Given the description of an element on the screen output the (x, y) to click on. 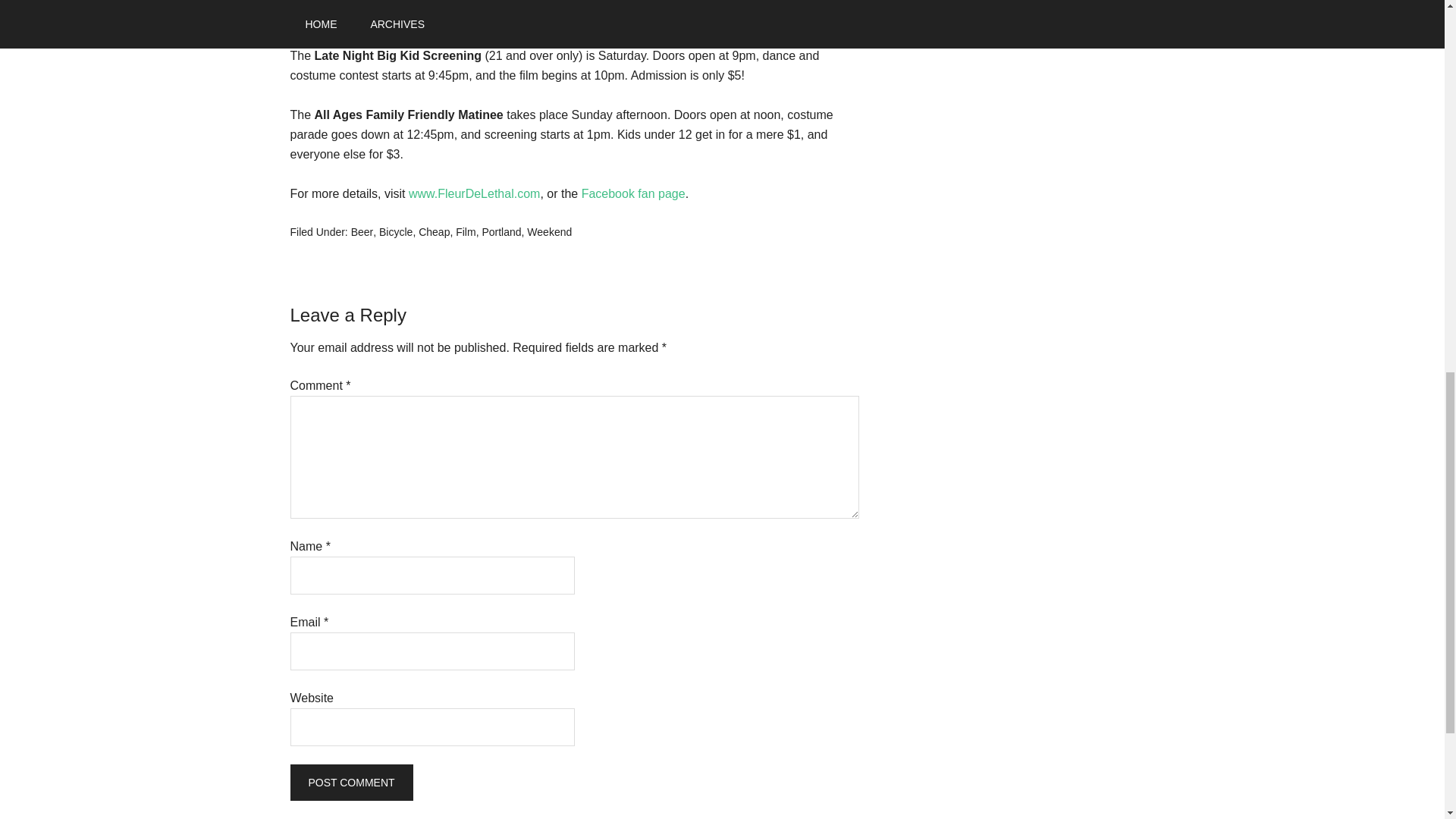
www.FleurDeLethal.com (474, 193)
Post Comment (350, 782)
Weekend (549, 232)
Cheap (434, 232)
Portland (501, 232)
Post Comment (350, 782)
Bicycle (395, 232)
Facebook fan page (632, 193)
Beer (362, 232)
Film (465, 232)
